Given the description of an element on the screen output the (x, y) to click on. 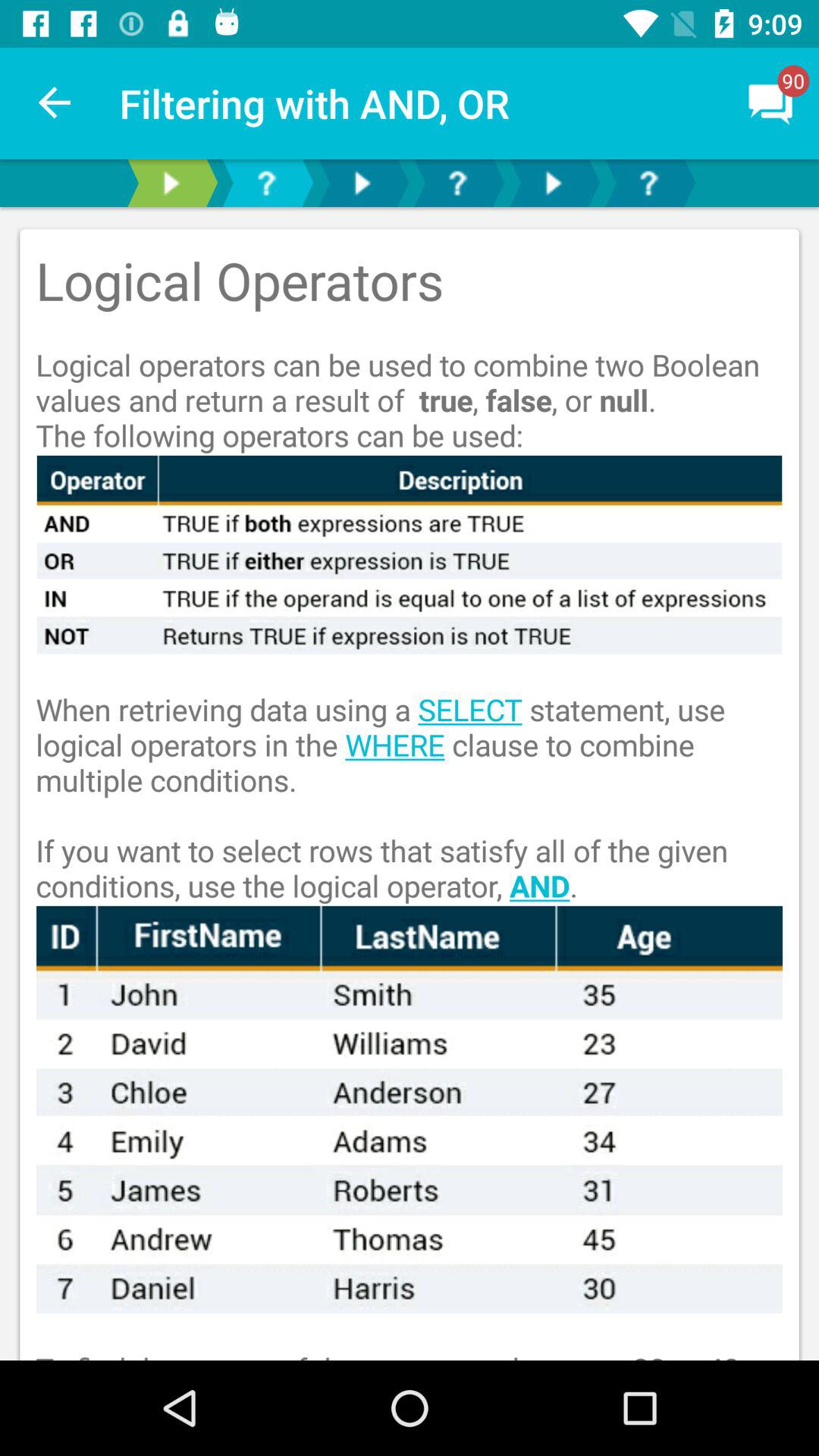
choose the item next to the filtering with and (55, 103)
